Given the description of an element on the screen output the (x, y) to click on. 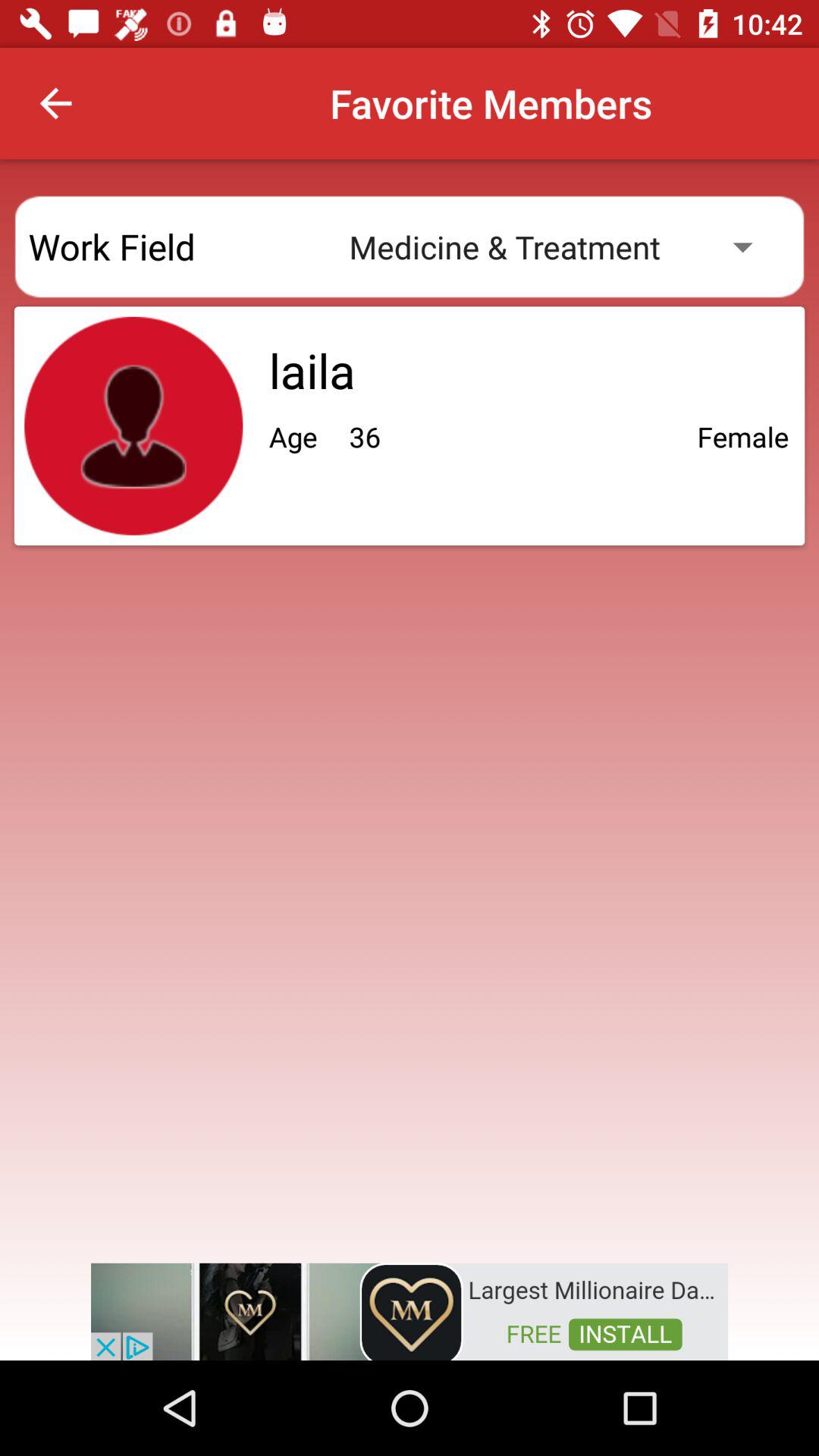
advertisement (409, 1310)
